Given the description of an element on the screen output the (x, y) to click on. 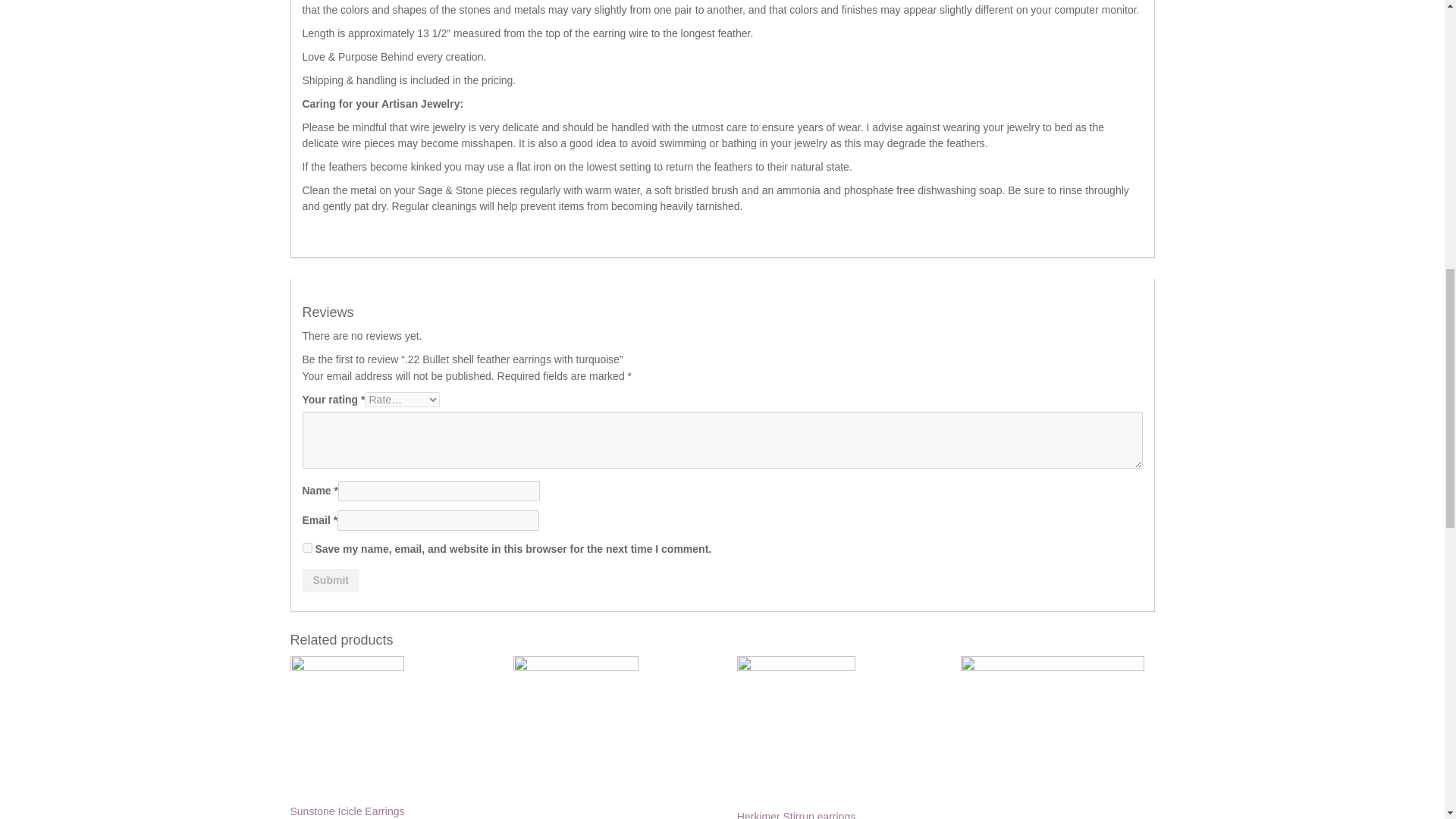
Submit (329, 580)
yes (306, 547)
Submit (329, 580)
